Given the description of an element on the screen output the (x, y) to click on. 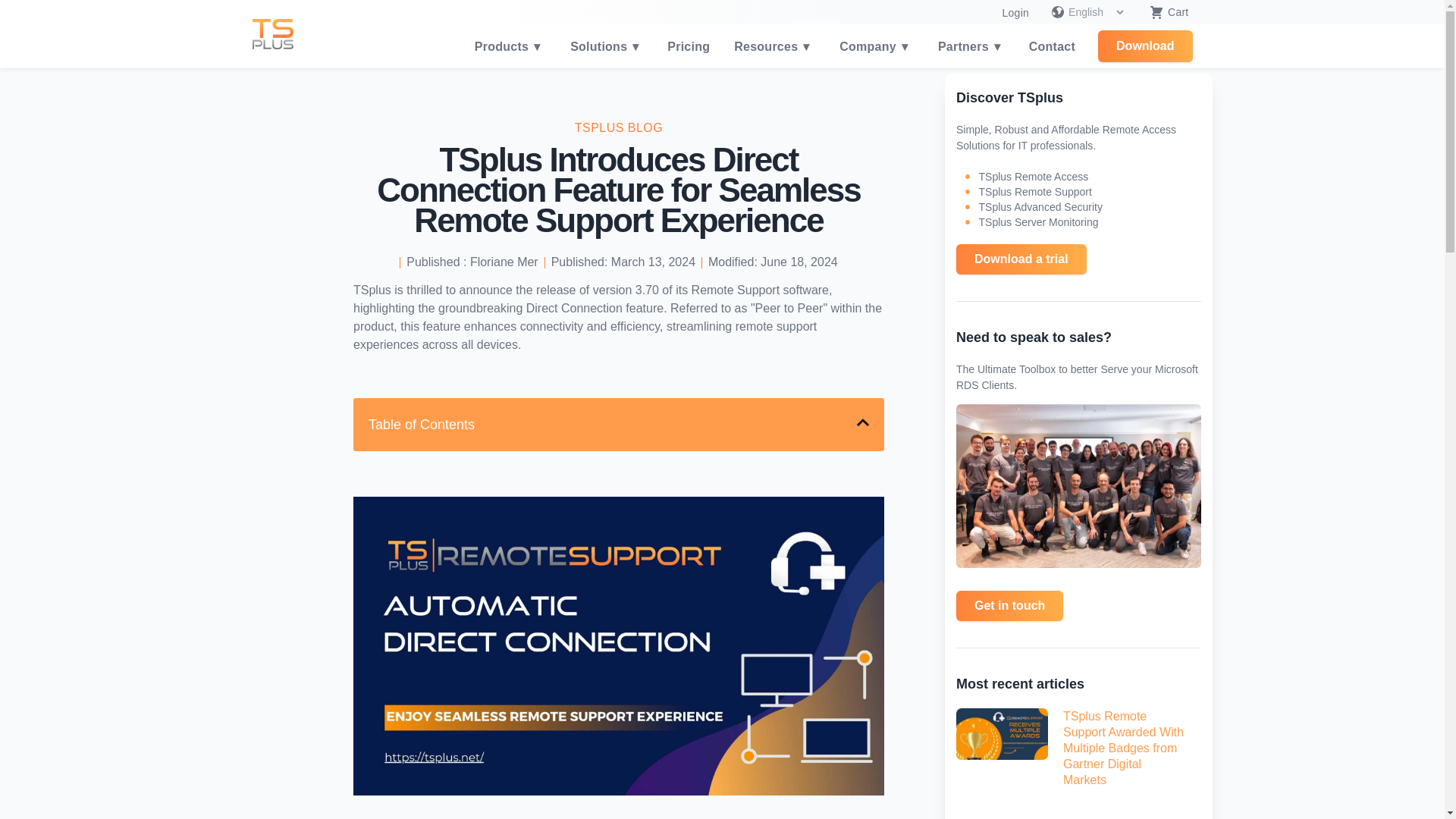
Cart (1164, 11)
Pricing (688, 46)
Login (1015, 12)
